Given the description of an element on the screen output the (x, y) to click on. 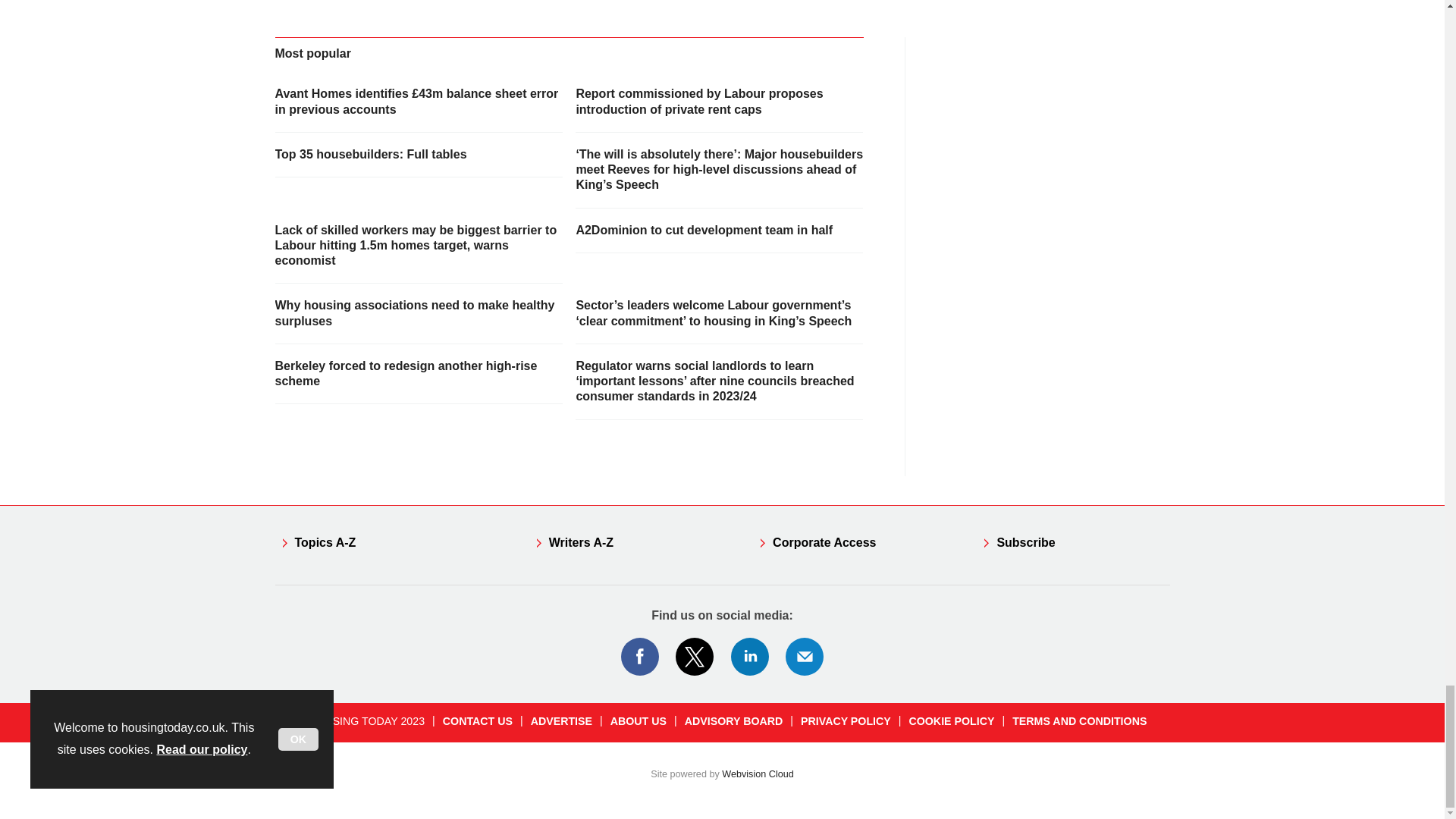
Email us (804, 656)
Connect with us on Twitter (694, 656)
Connect with us on Facebook (639, 656)
Connect with us on Linked in (750, 656)
